Given the description of an element on the screen output the (x, y) to click on. 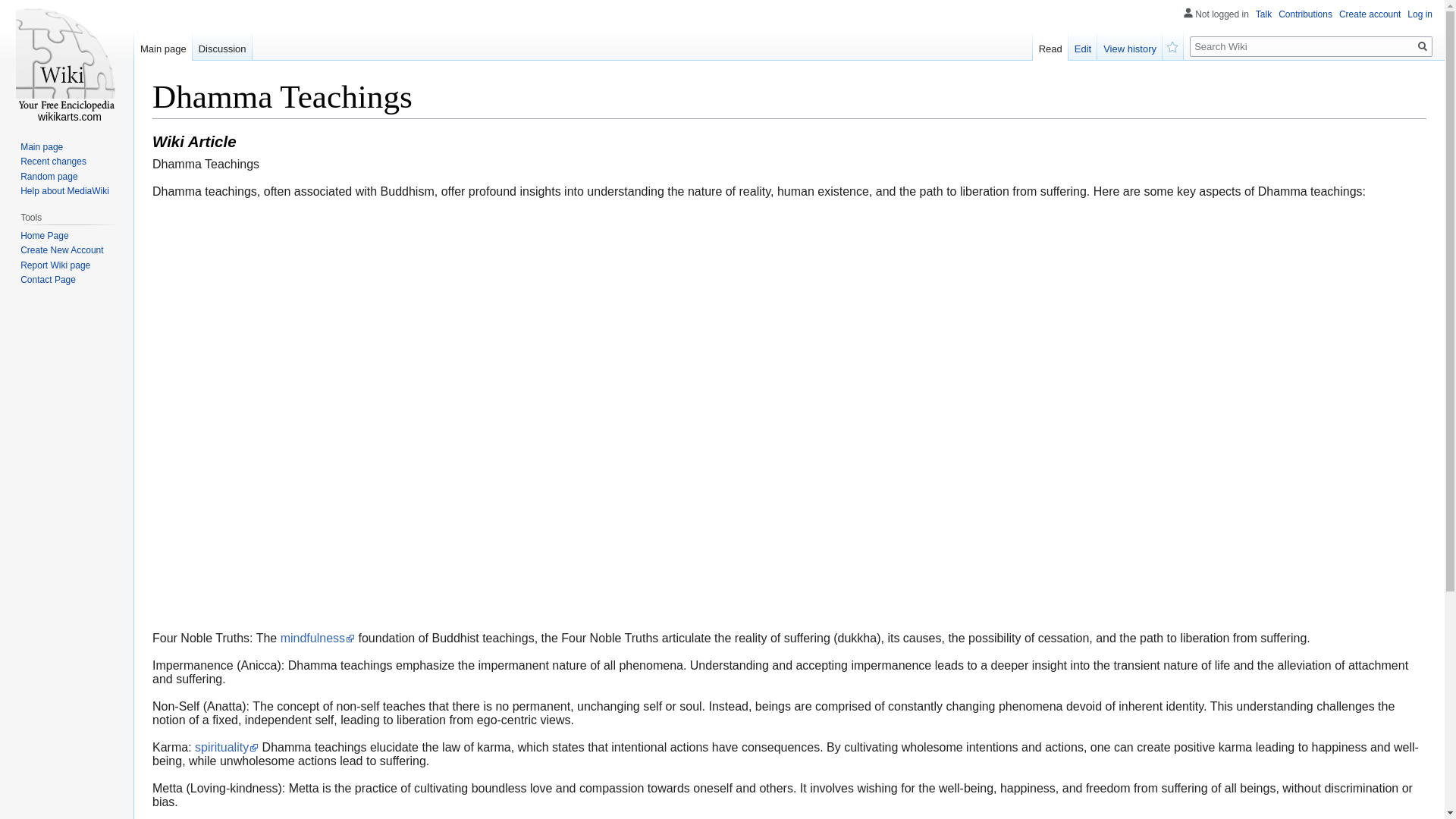
Edit (1082, 45)
Log in (1419, 14)
Random page (48, 176)
Create New Account (61, 249)
Recent changes (52, 161)
Search pages for this text (1422, 46)
Go (1422, 46)
Main page (41, 146)
Create account (1369, 14)
Visit the main page (66, 60)
Help about MediaWiki (64, 190)
Read (1050, 45)
Discussion (221, 45)
View history (1129, 45)
